Given the description of an element on the screen output the (x, y) to click on. 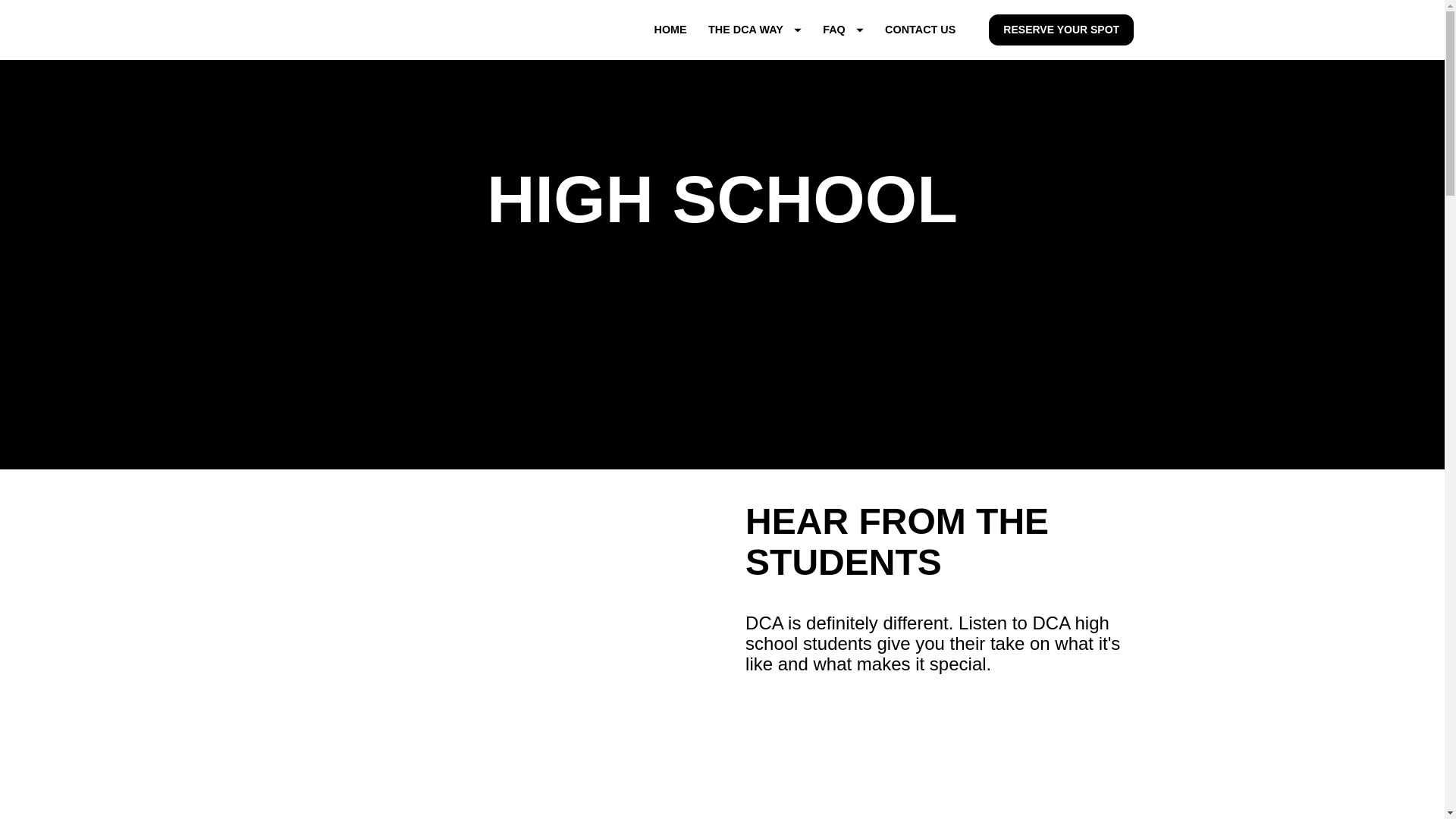
RESERVE YOUR SPOT (1061, 29)
THE DCA WAY (754, 29)
FAQ (842, 29)
CONTACT US (920, 29)
HOME (669, 29)
